Given the description of an element on the screen output the (x, y) to click on. 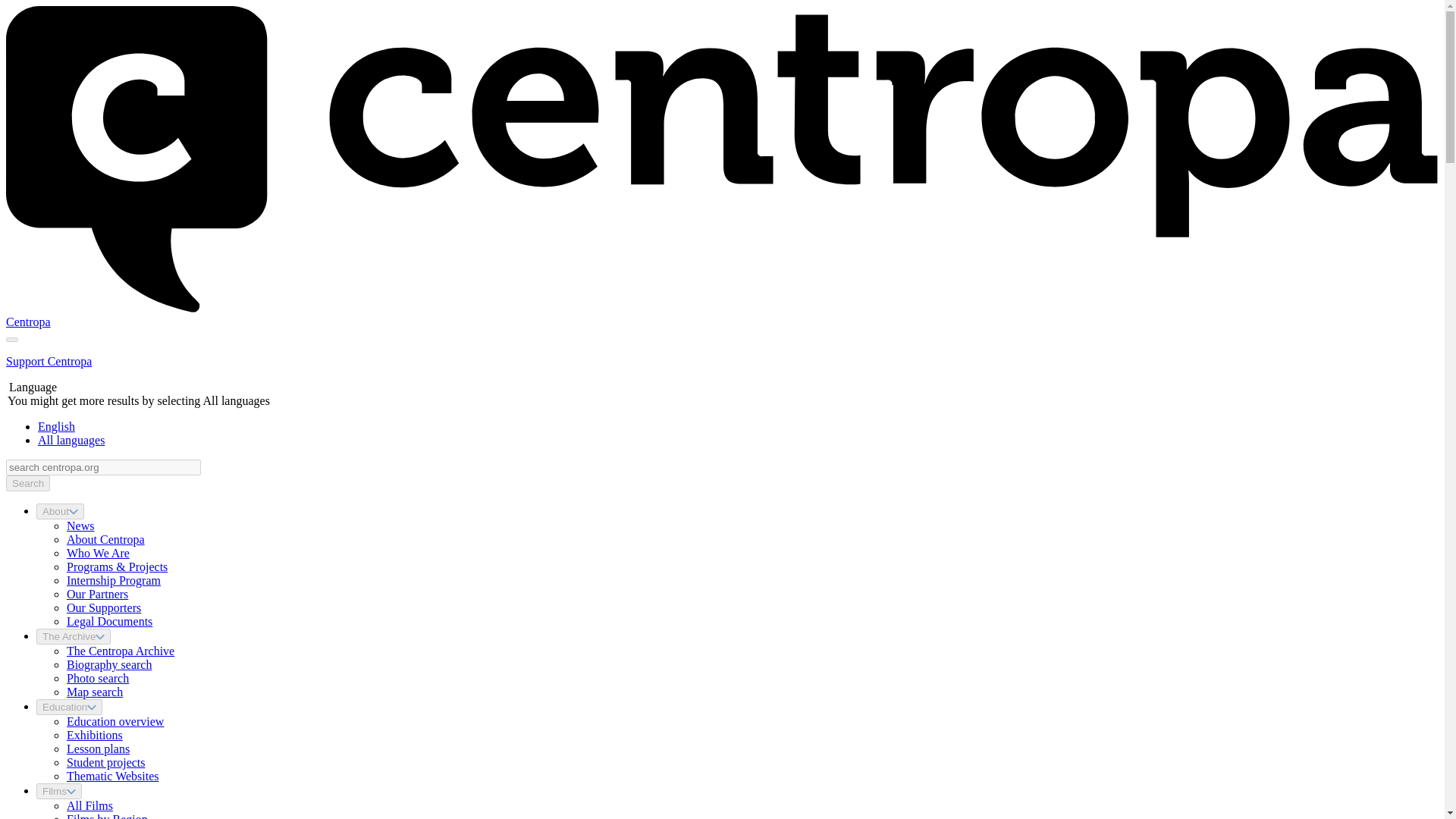
News (80, 525)
Our Partners (97, 594)
Internship Program (113, 580)
Films (58, 790)
Map search (94, 691)
Thematic Websites (112, 775)
Education overview (114, 721)
Education (68, 706)
Films by Region (107, 816)
All Films (89, 805)
Who We Are (97, 553)
The Archive (73, 636)
Centropa (27, 321)
Lesson plans (97, 748)
Our Supporters (103, 607)
